Given the description of an element on the screen output the (x, y) to click on. 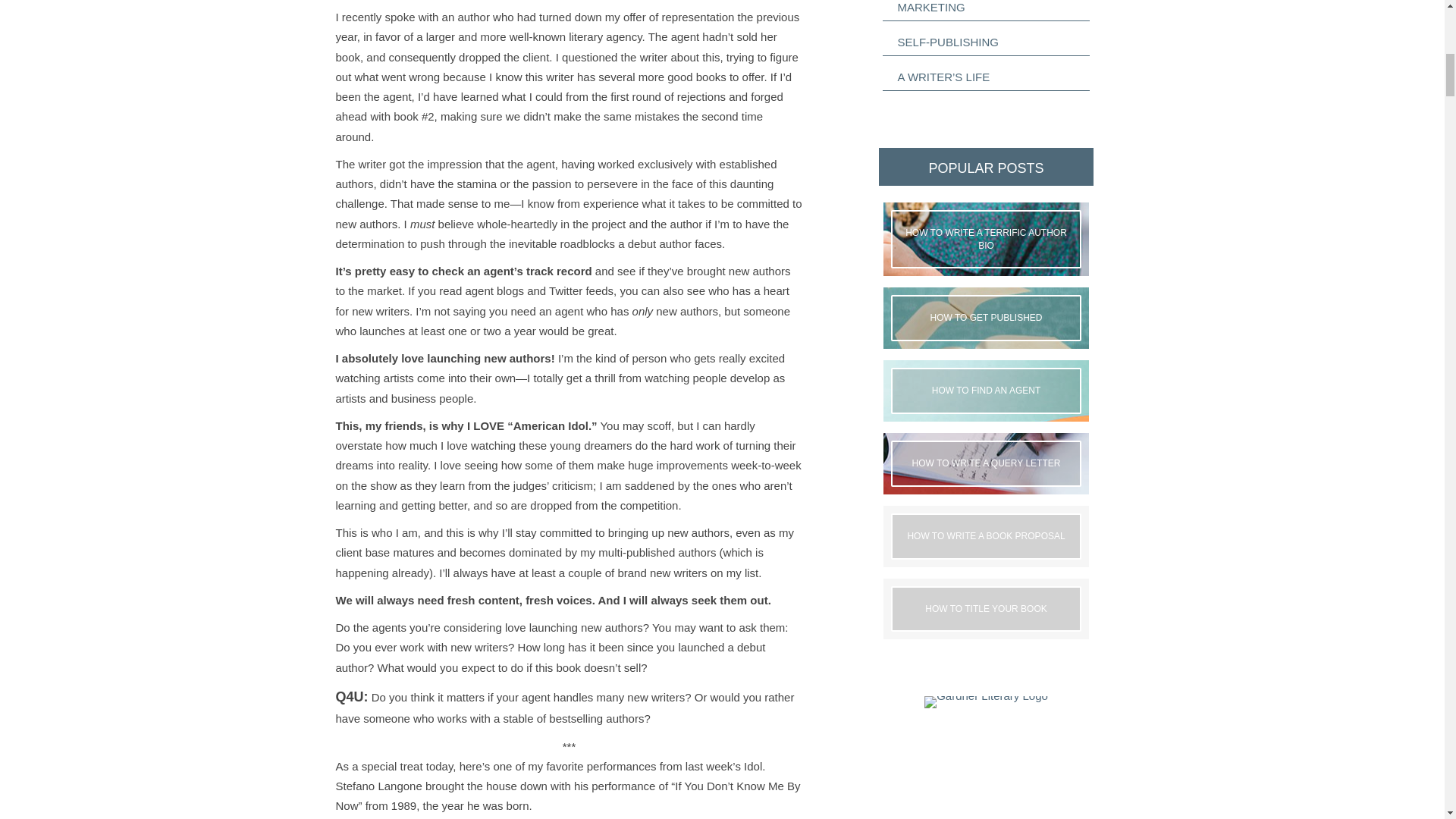
How To Write a Book Proposal (986, 536)
How to Get Published (986, 317)
How to Write a Terrific Author Bio (986, 239)
How To Write A Query Letter (986, 463)
How to Find an Agent (986, 390)
